Given the description of an element on the screen output the (x, y) to click on. 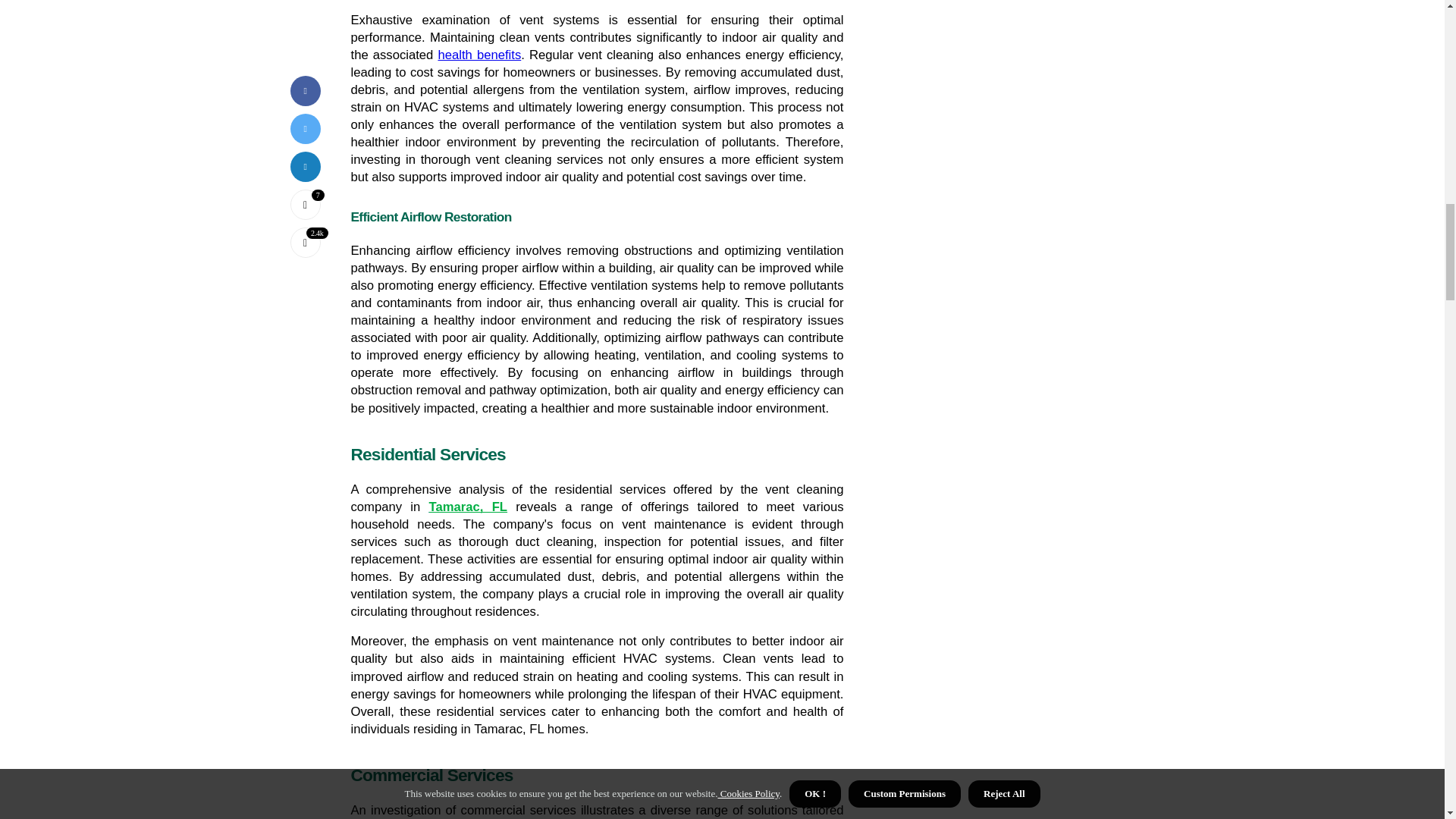
Tamarac, FL (468, 506)
health benefits (479, 54)
